Given the description of an element on the screen output the (x, y) to click on. 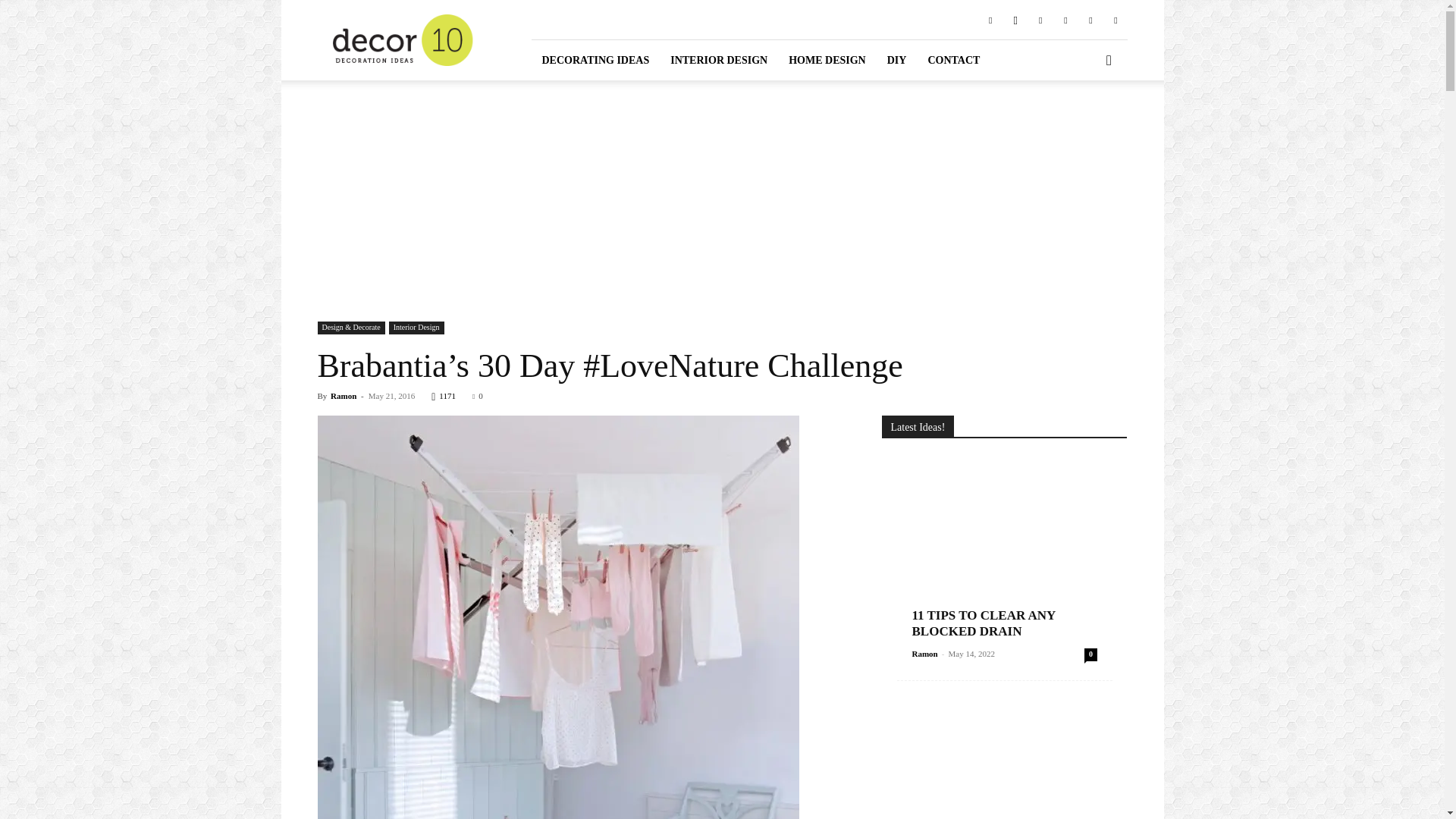
Facebook (989, 19)
DECORATING IDEAS (595, 60)
Ramon (343, 395)
INTERIOR DESIGN (718, 60)
HOME DESIGN (826, 60)
CONTACT (953, 60)
WordPress (1114, 19)
Search (1085, 122)
RSS (1065, 19)
DIY (896, 60)
Pinterest (1040, 19)
Twitter (1090, 19)
0 (477, 395)
Interior Design (416, 327)
